Given the description of an element on the screen output the (x, y) to click on. 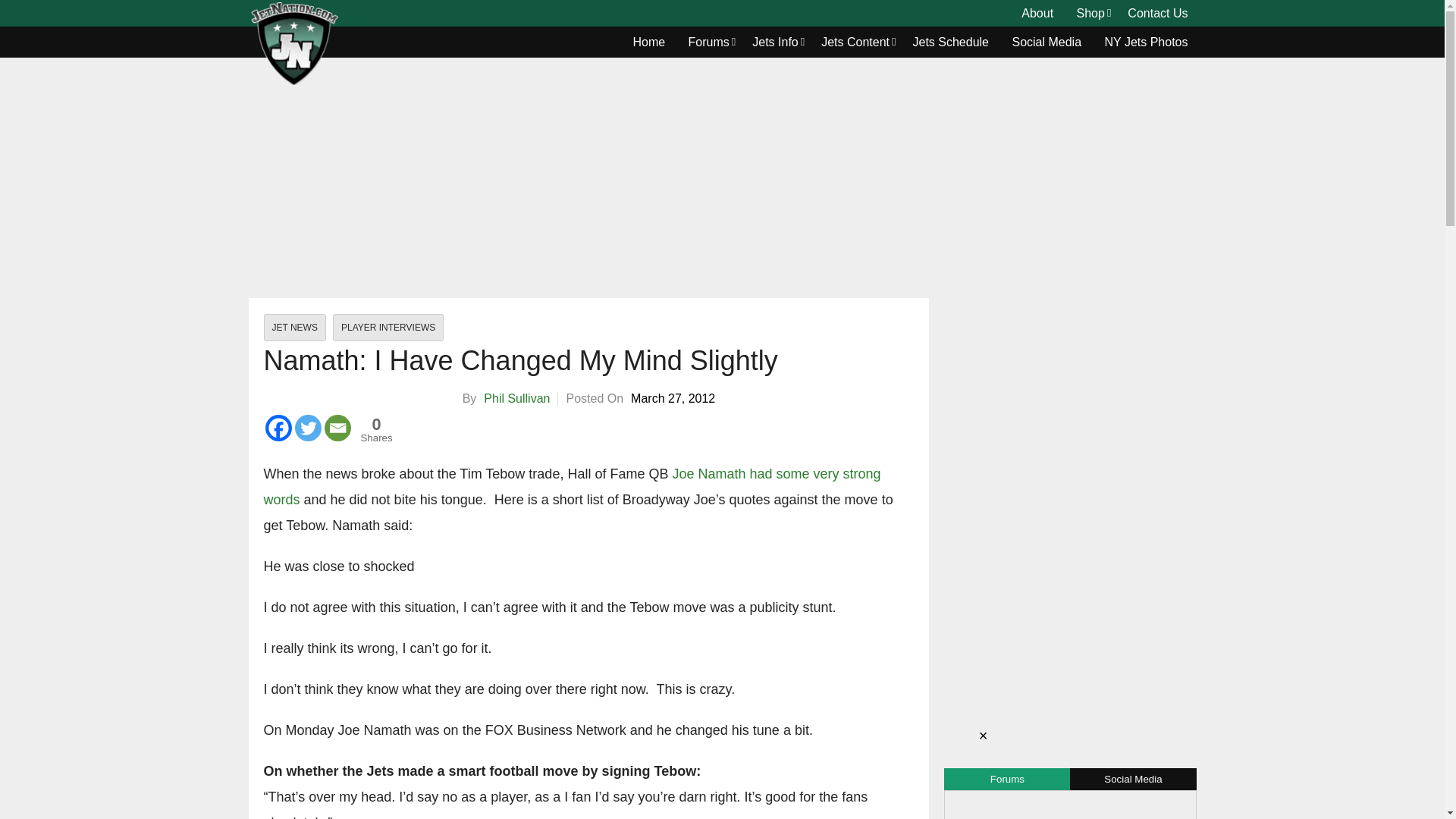
Facebook (278, 427)
Shop (1090, 13)
About (1037, 13)
Jets Schedule (950, 41)
Phil Sullivan (516, 398)
Social Media (1046, 41)
PLAYER INTERVIEWS (388, 327)
Jets Content (855, 41)
Jets Info (775, 41)
Twitter (307, 427)
Contact Us (1157, 13)
Total Shares (377, 429)
Email (337, 427)
NY Jets Photos (1146, 41)
JET NEWS (294, 327)
